Given the description of an element on the screen output the (x, y) to click on. 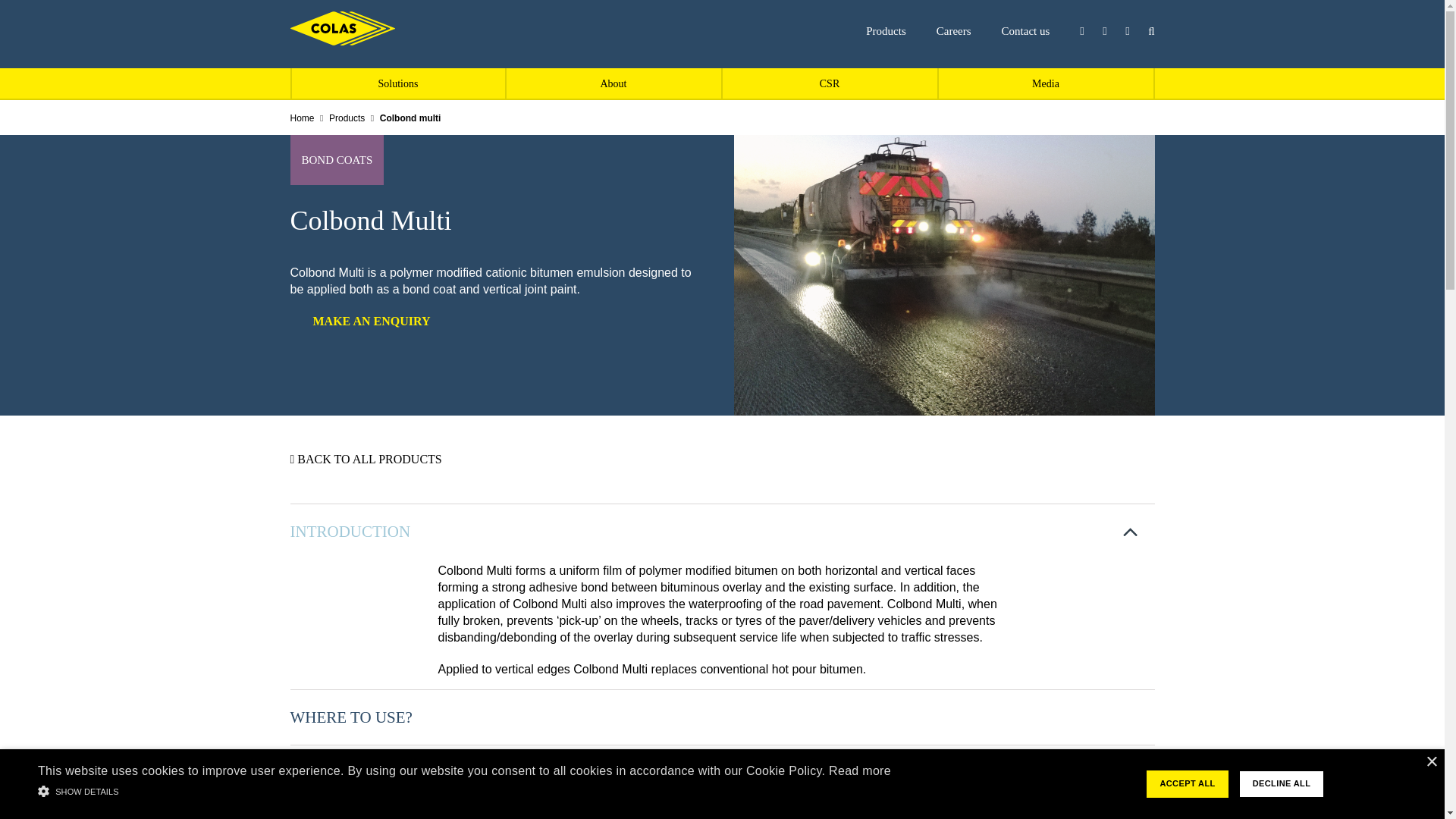
Contact us (1025, 30)
LinkedIn (1089, 30)
Twitter (1111, 30)
Products (885, 30)
Careers (953, 30)
YouTube (1134, 30)
